Given the description of an element on the screen output the (x, y) to click on. 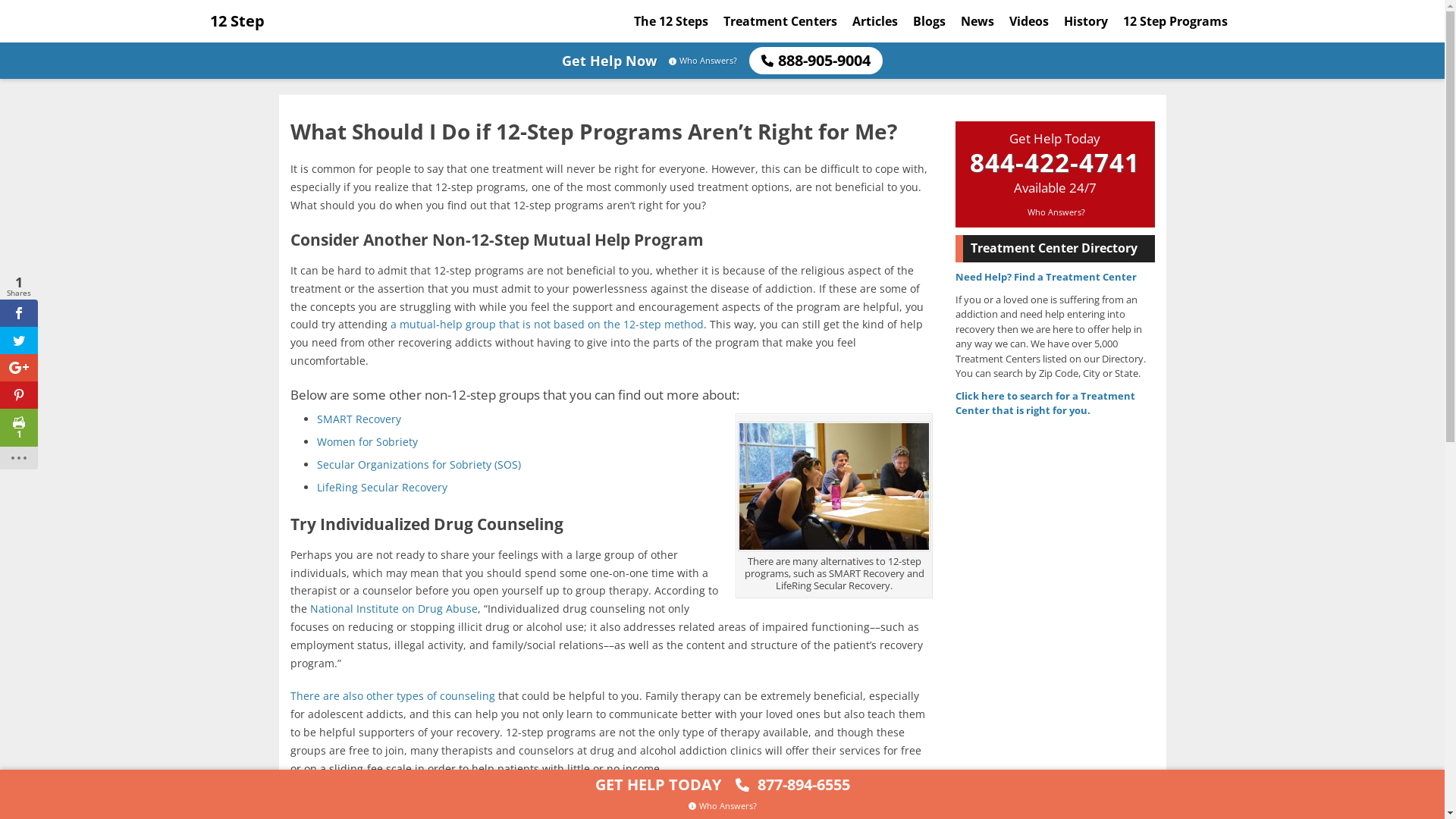
History Element type: text (1084, 21)
844-422-4741 Element type: text (1054, 162)
Videos Element type: text (1028, 21)
Need Help? Find a Treatment Center Element type: text (1045, 276)
Secular Organizations for Sobriety (SOS) Element type: text (418, 464)
Get Help Now Element type: text (608, 60)
Treatment Centers Element type: text (779, 21)
National Institute on Drug Abuse Element type: text (392, 608)
Blogs Element type: text (929, 21)
1 Element type: text (18, 427)
12 Step Programs Element type: text (1174, 21)
News Element type: text (976, 21)
GET HELP TODAY
877-894-6555 Element type: text (722, 783)
LifeRing Secular Recovery Element type: text (381, 487)
Women for Sobriety Element type: text (366, 441)
There are also other types of counseling Element type: text (391, 695)
The 12 Steps Element type: text (670, 21)
SMART Recovery Element type: text (358, 418)
12 Step Element type: text (236, 21)
Articles Element type: text (874, 21)
888-905-9004 Element type: text (815, 60)
a mutual-help group that is not based on the 12-step method Element type: text (545, 323)
